Given the description of an element on the screen output the (x, y) to click on. 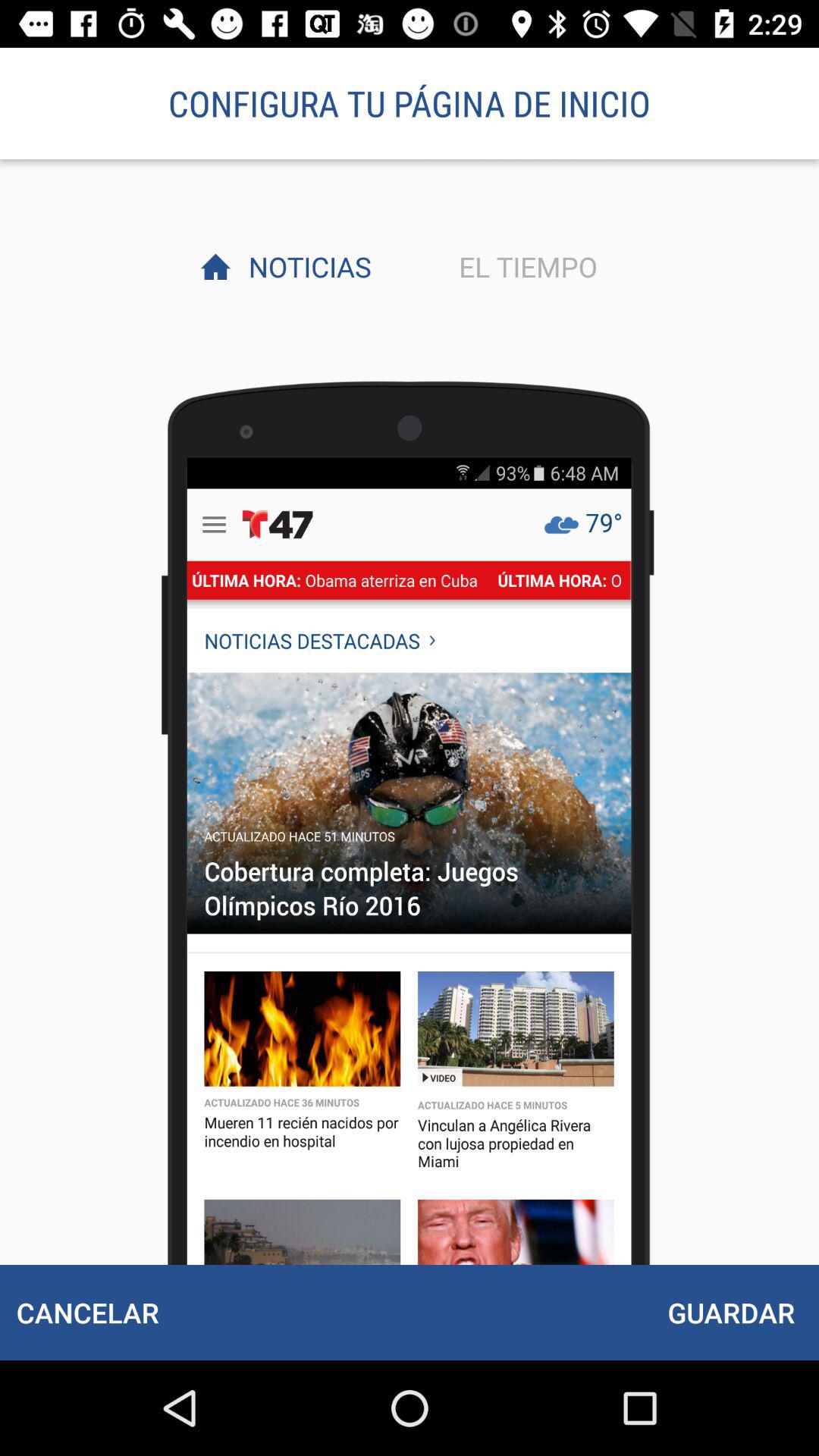
select cancelar icon (87, 1312)
